Given the description of an element on the screen output the (x, y) to click on. 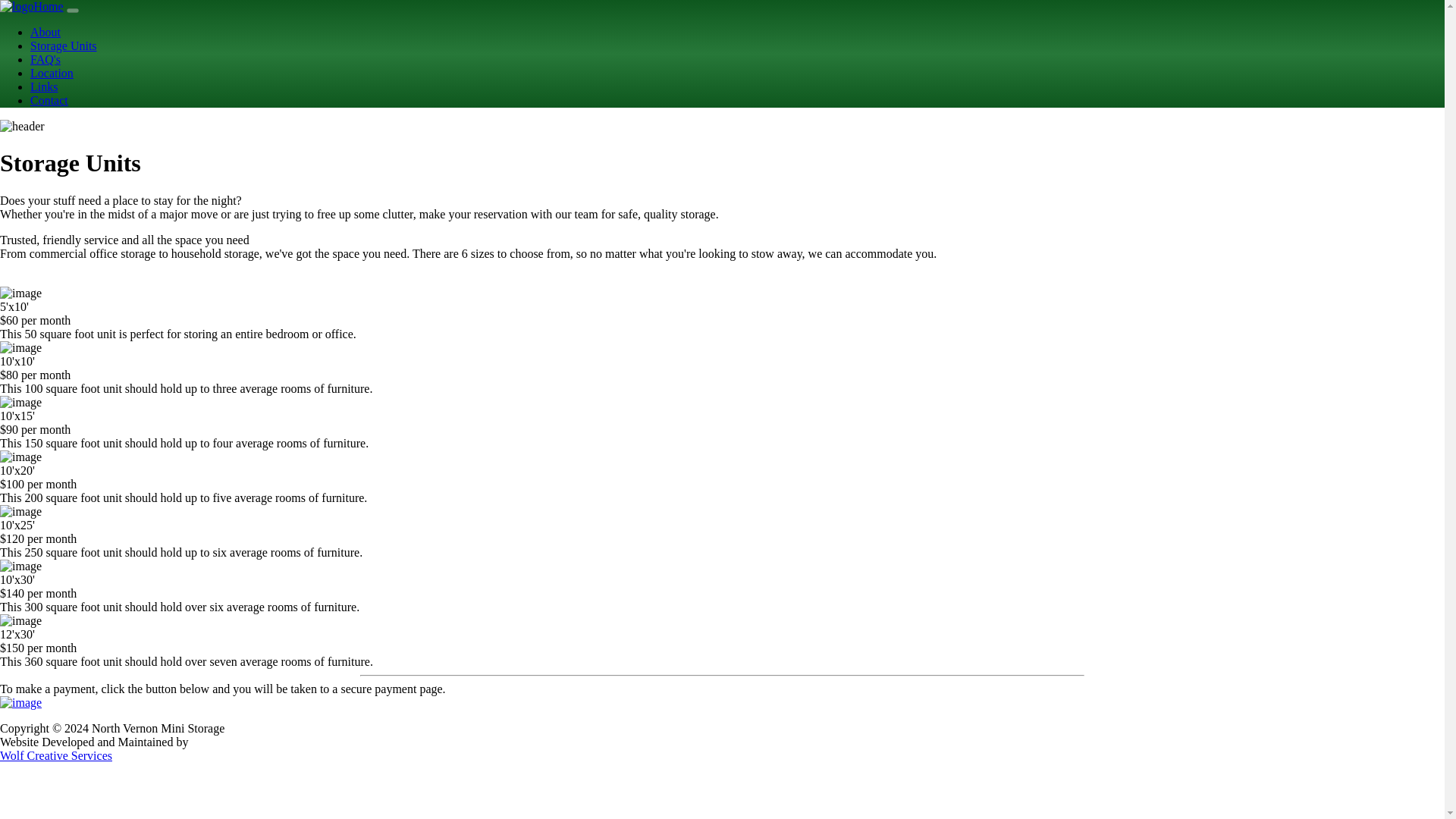
Home (32, 6)
Storage Units (63, 45)
Contact (49, 100)
FAQ's (45, 59)
Location (52, 72)
Wolf Creative Services (56, 755)
Links (44, 86)
About (45, 31)
